Given the description of an element on the screen output the (x, y) to click on. 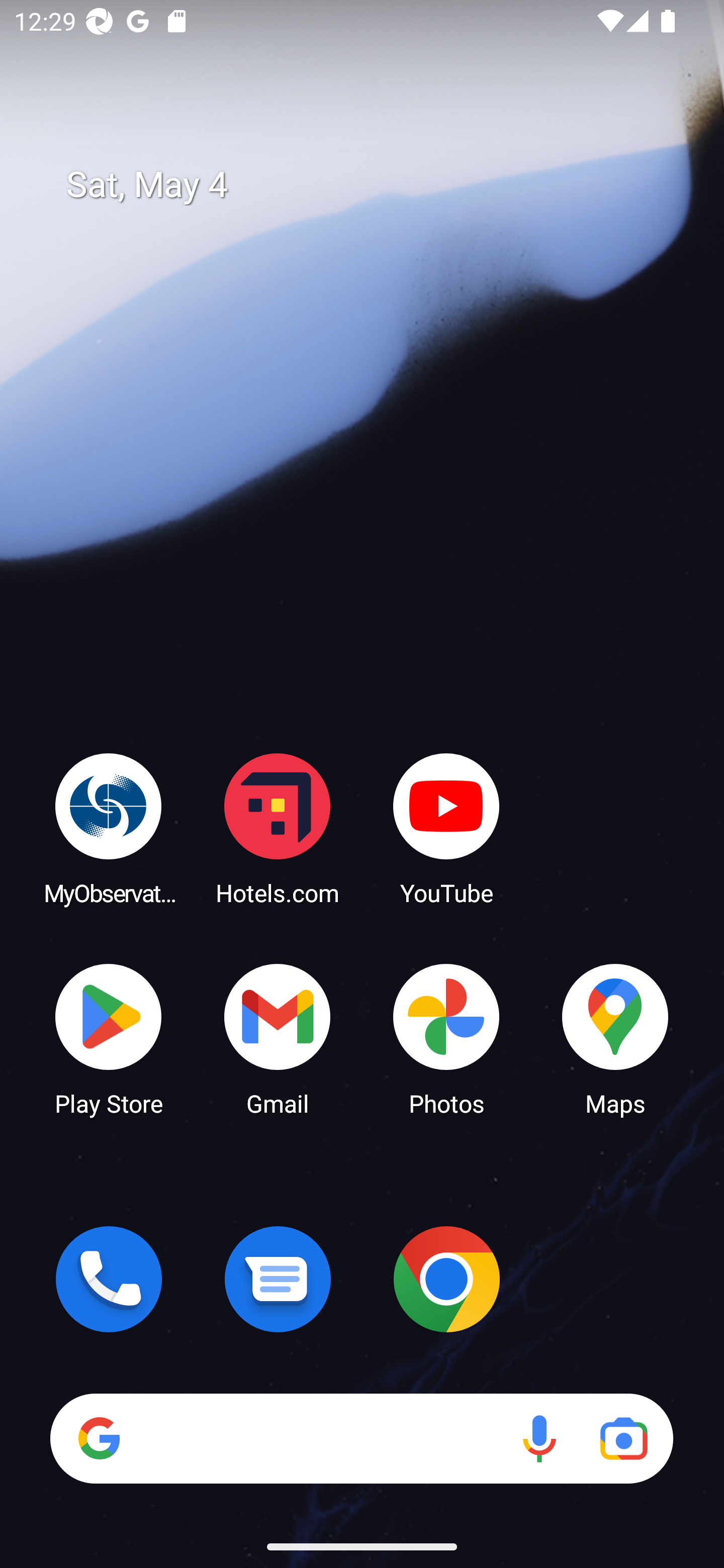
Sat, May 4 (375, 184)
MyObservatory (108, 828)
Hotels.com (277, 828)
YouTube (445, 828)
Play Store (108, 1038)
Gmail (277, 1038)
Photos (445, 1038)
Maps (615, 1038)
Phone (108, 1279)
Messages (277, 1279)
Chrome (446, 1279)
Search Voice search Google Lens (361, 1438)
Voice search (539, 1438)
Google Lens (623, 1438)
